Given the description of an element on the screen output the (x, y) to click on. 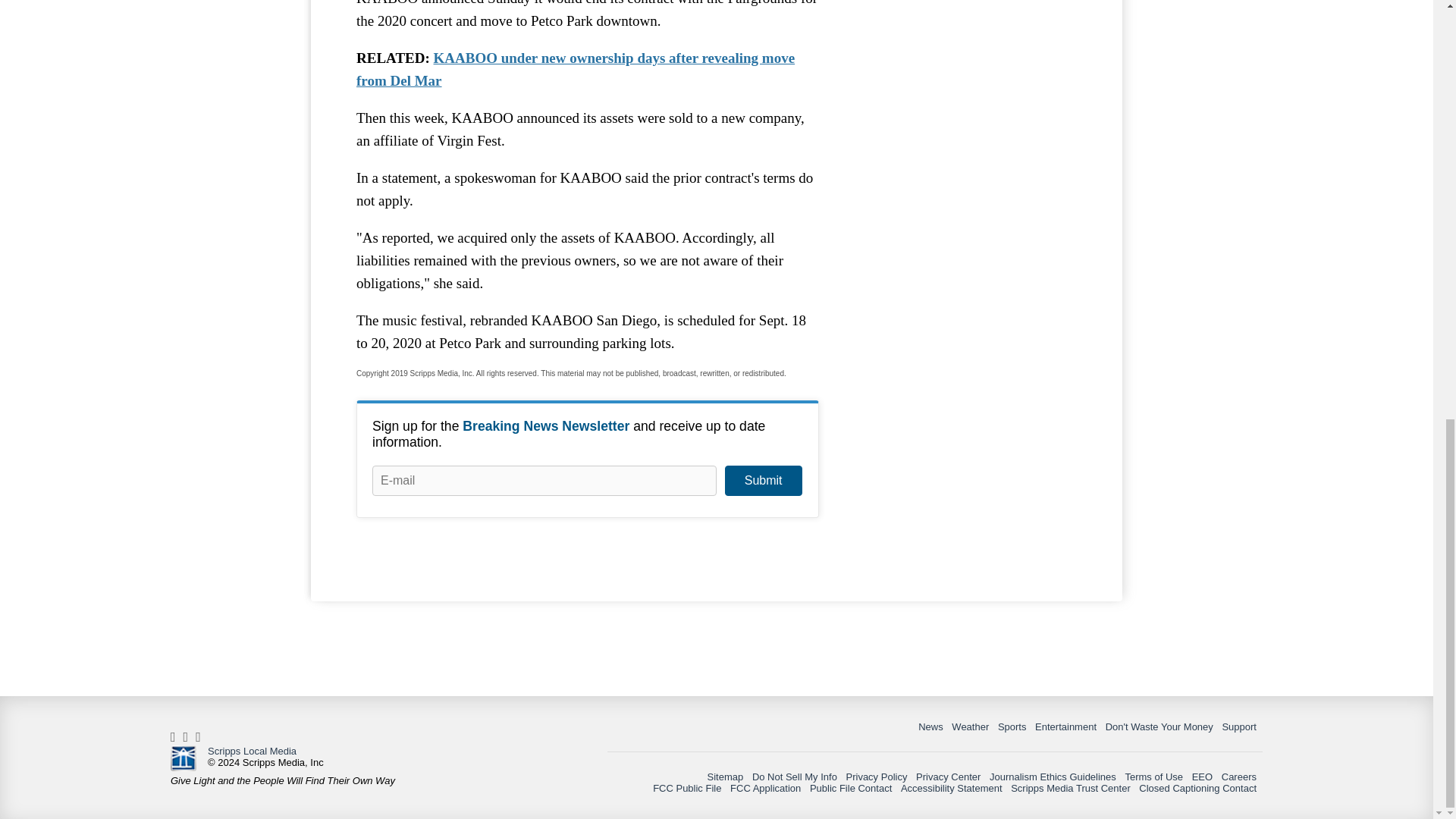
Submit (763, 481)
